Given the description of an element on the screen output the (x, y) to click on. 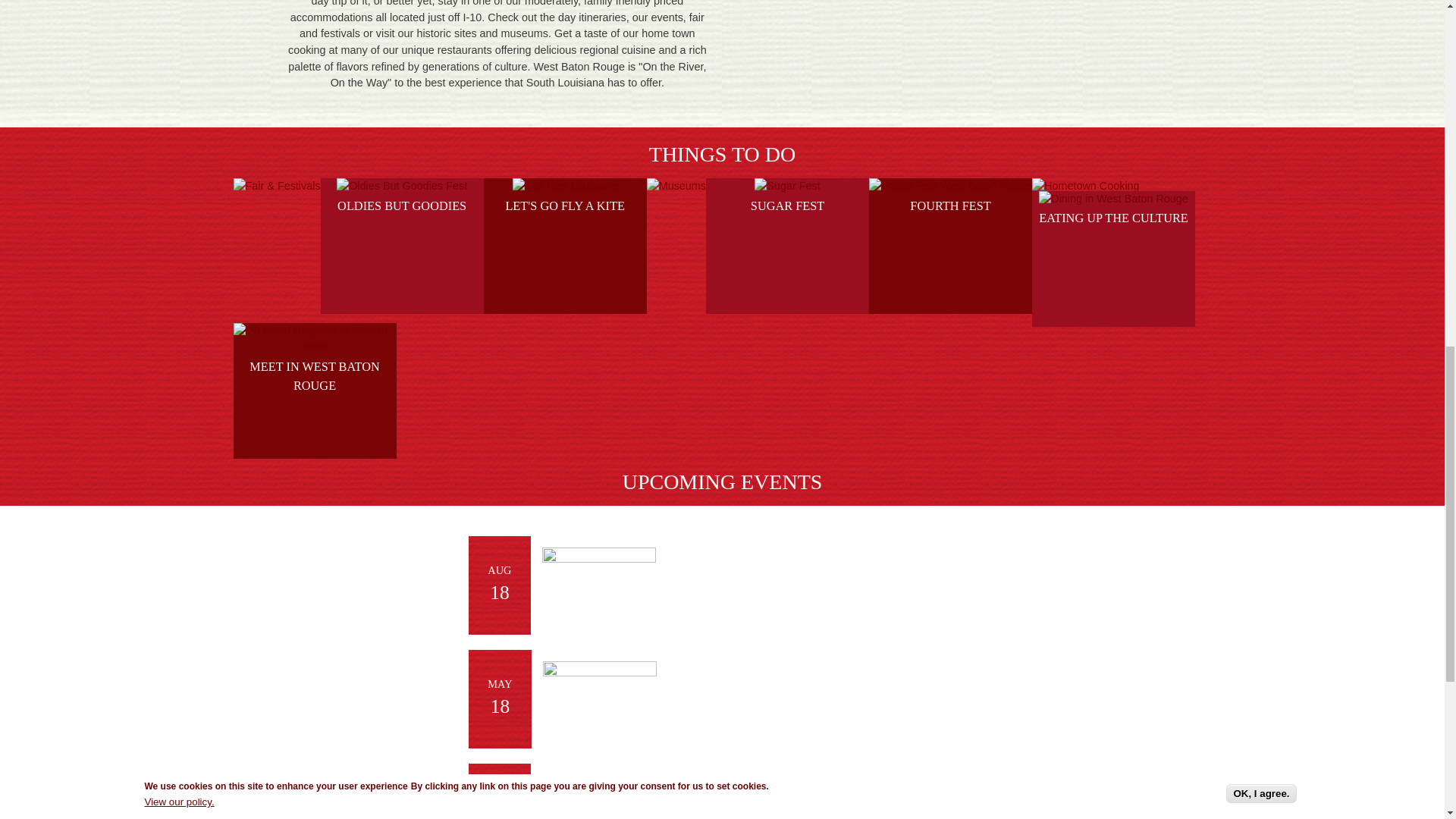
Sugar Fest (786, 186)
Kite Fest Louisiane (564, 186)
Hometown Cooking  (1086, 186)
Museums (676, 186)
Oldies But Goodies Fest (401, 186)
Fourth Fest West Baton Rouge (949, 186)
